Given the description of an element on the screen output the (x, y) to click on. 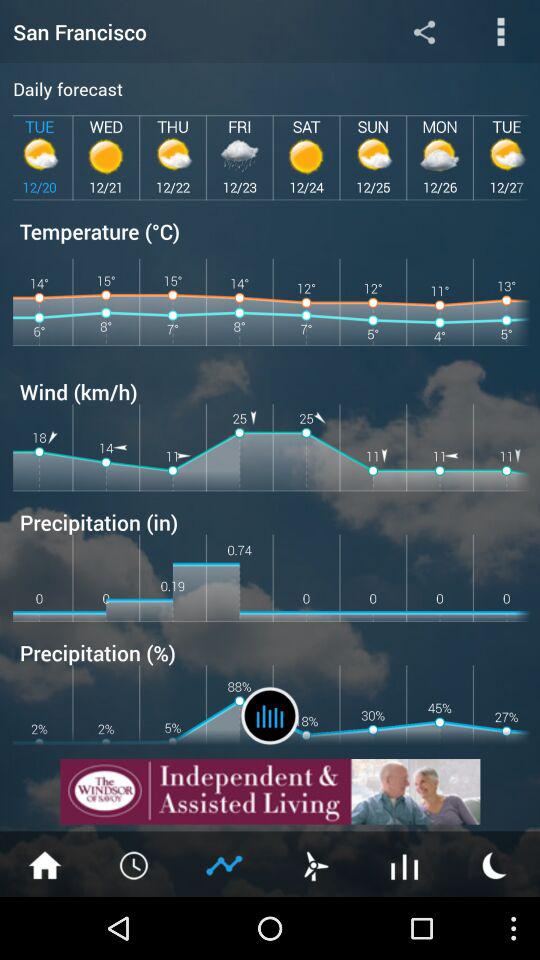
know about the advertisement (270, 791)
